Given the description of an element on the screen output the (x, y) to click on. 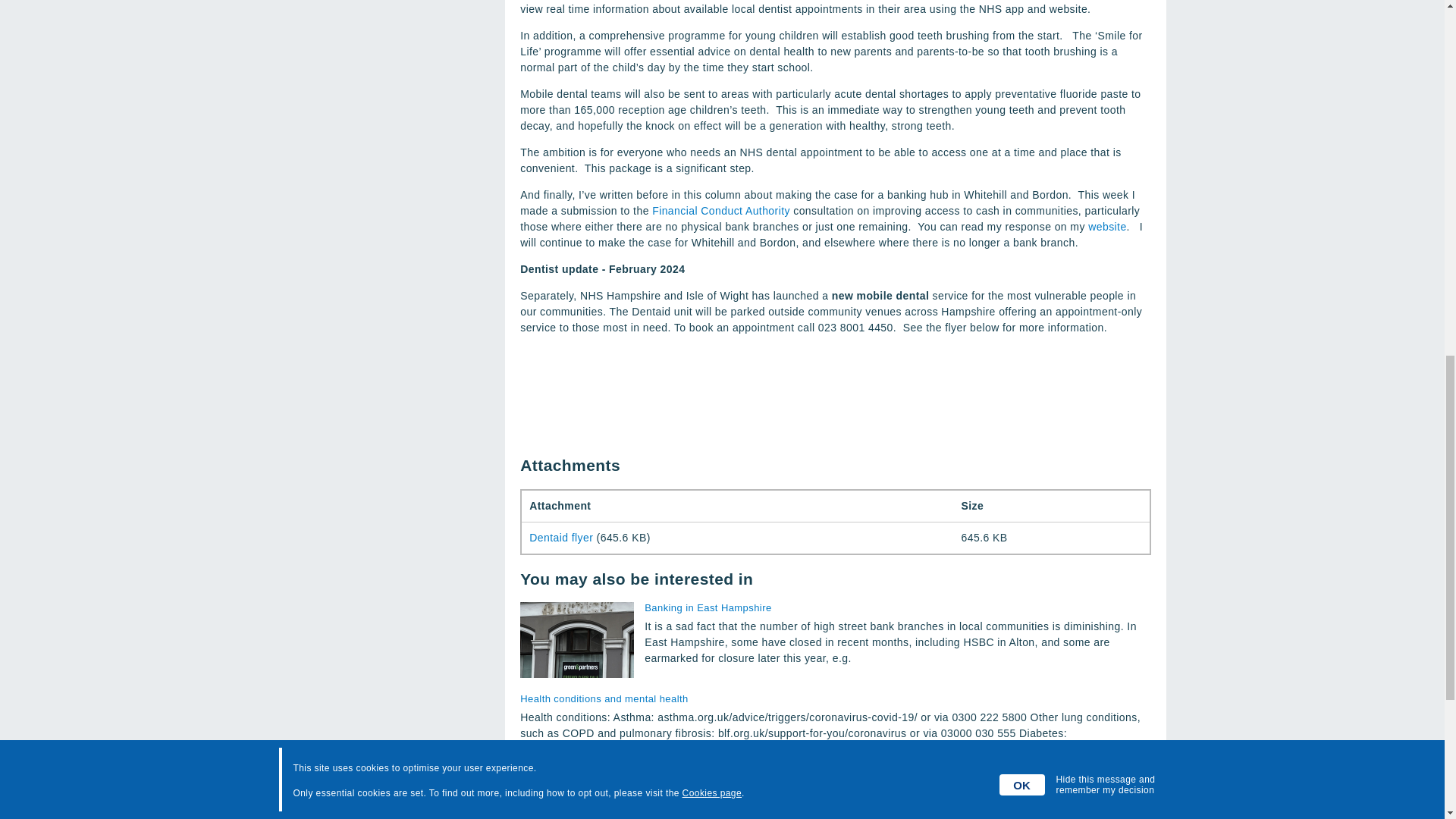
Financial Conduct Authority (721, 210)
Dentaid flyer (560, 537)
24 02 24 Dentaid ICB FLYER FINAL.pdf (560, 537)
Health conditions and mental health (834, 698)
website (1106, 226)
Banking in East Hampshire (897, 607)
